Given the description of an element on the screen output the (x, y) to click on. 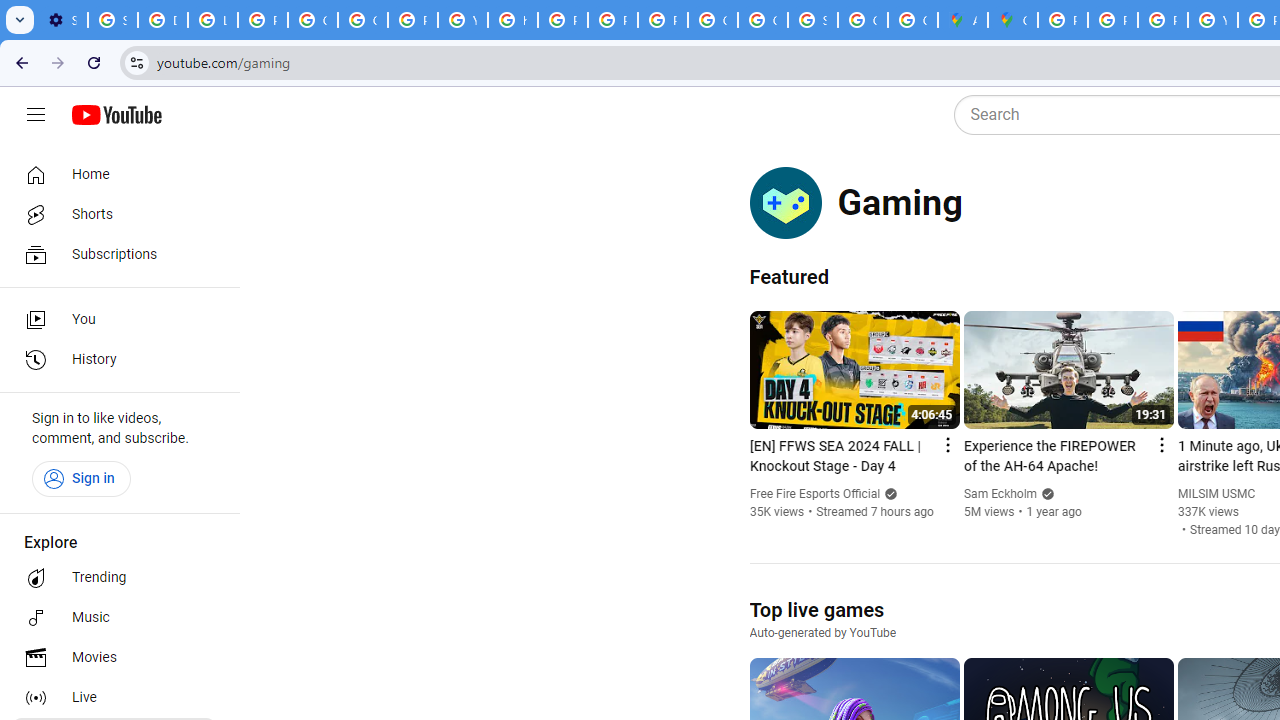
Live (113, 697)
Trending (113, 578)
MILSIM USMC (1216, 494)
Shorts (113, 214)
Sign in - Google Accounts (813, 20)
Delete photos & videos - Computer - Google Photos Help (163, 20)
Verified (1044, 493)
Google Account Help (312, 20)
Privacy Help Center - Policies Help (1112, 20)
